Given the description of an element on the screen output the (x, y) to click on. 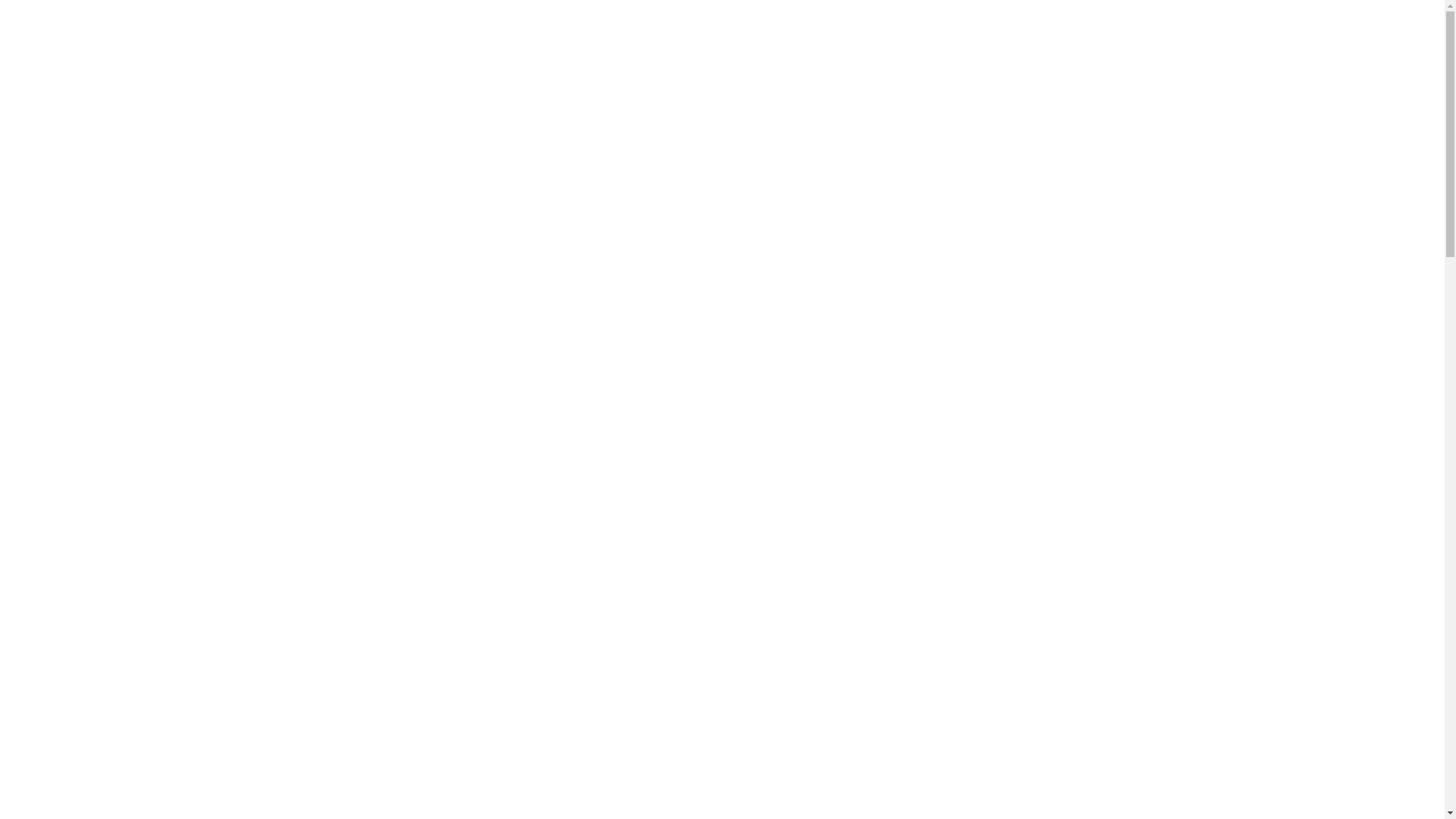
Contact us Element type: text (1120, 75)
FOR PARENTS Element type: text (569, 80)
Enrol now Element type: text (1006, 75)
FOR PRINCIPALS Element type: text (705, 80)
Join KidsCo! Element type: text (355, 19)
FAQs Element type: text (805, 80)
About KidsCo Element type: text (236, 19)
1300 976 304 Element type: text (1144, 19)
Team Element type: text (298, 19)
